Given the description of an element on the screen output the (x, y) to click on. 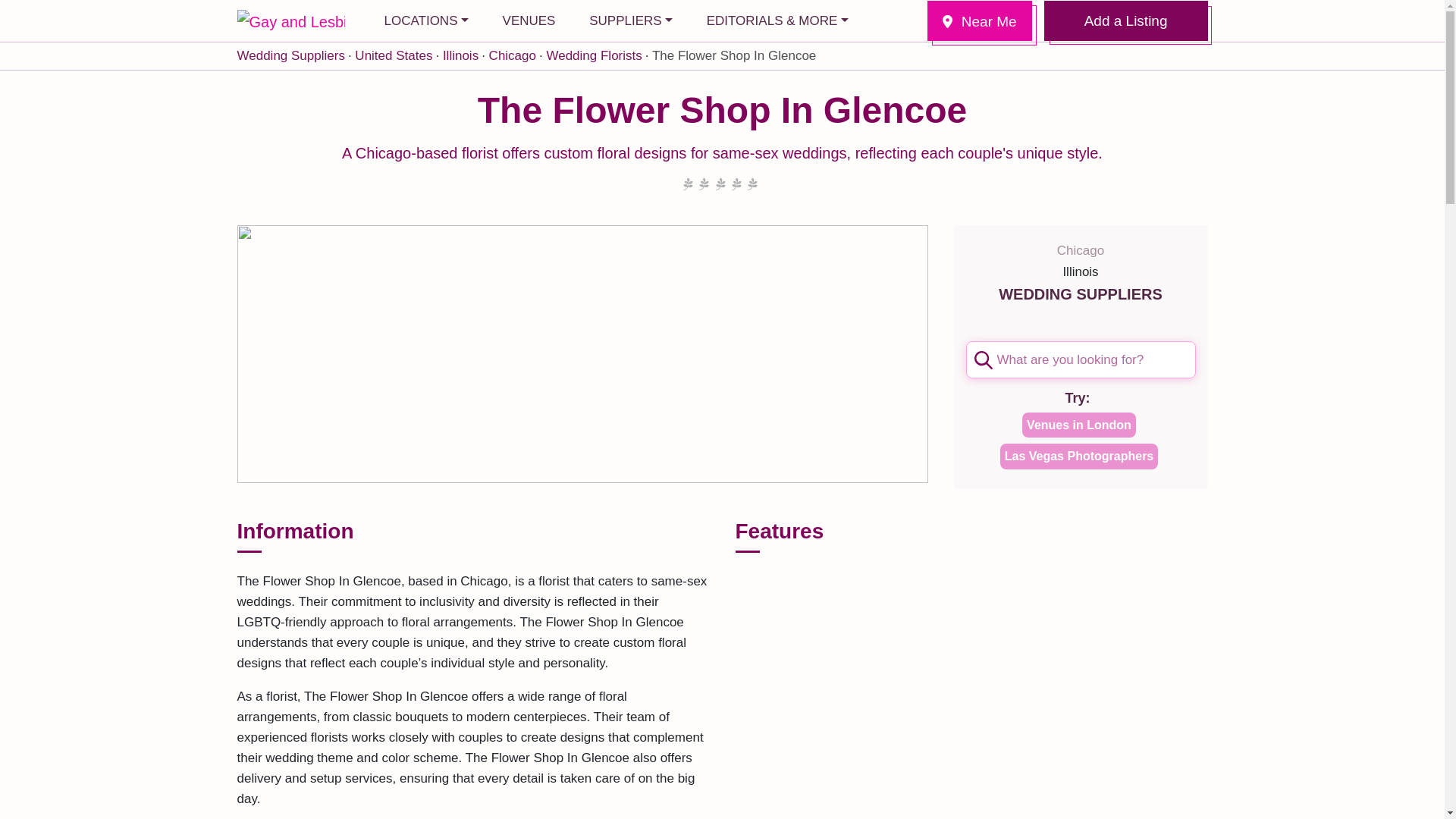
LOCATIONS (425, 20)
Gay and Lesbian Weddings (289, 20)
No rating yet! (719, 184)
